Given the description of an element on the screen output the (x, y) to click on. 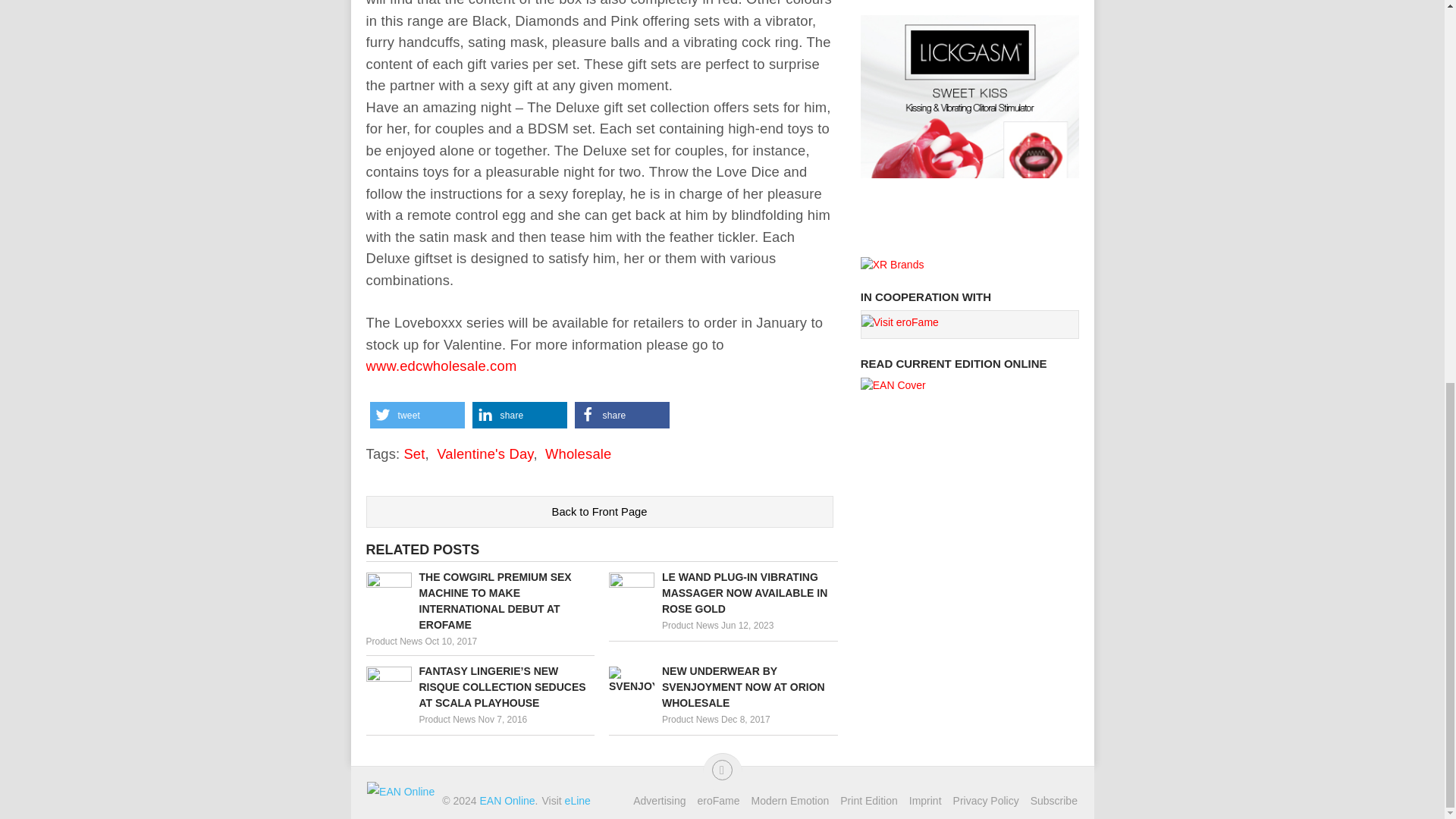
Share on Twitter (416, 415)
Wholesale (577, 453)
share  (518, 415)
share  (622, 415)
Share on LinkedIn (518, 415)
Product News (393, 641)
tweet  (416, 415)
Back to Front Page (599, 511)
New underwear by Svenjoyment now at ORION Wholesale (723, 687)
